Given the description of an element on the screen output the (x, y) to click on. 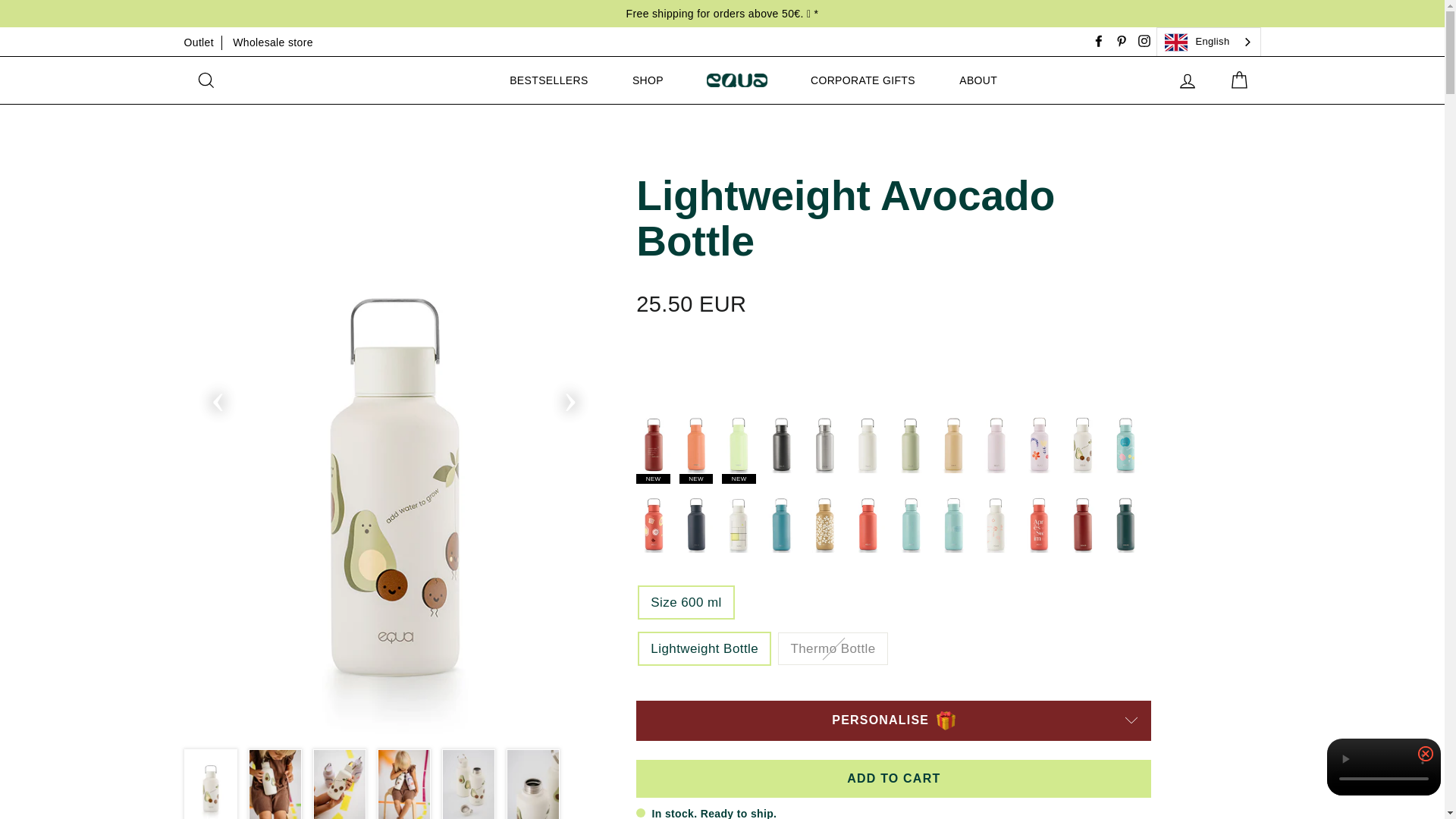
EQUA - Sustainable Water Bottles on Instagram (1144, 42)
EQUA - Sustainable Water Bottles on Pinterest (1121, 42)
EQUA - Sustainable Water Bottles on Facebook (1098, 42)
